Given the description of an element on the screen output the (x, y) to click on. 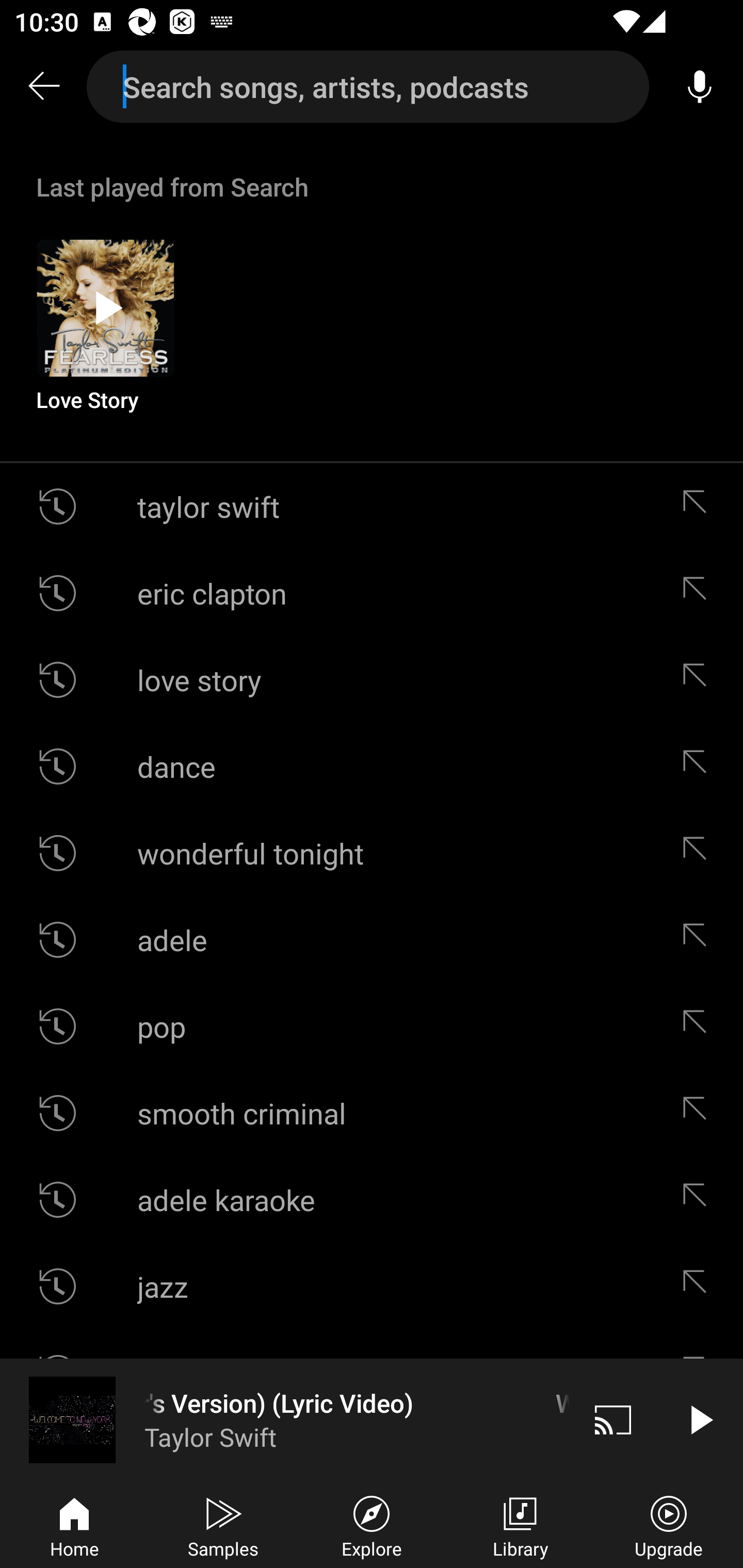
Search back (43, 86)
Search songs, artists, podcasts (367, 86)
Voice search (699, 86)
taylor swift Edit suggestion taylor swift (371, 506)
Edit suggestion taylor swift (699, 506)
eric clapton Edit suggestion eric clapton (371, 593)
Edit suggestion eric clapton (699, 593)
love story Edit suggestion love story (371, 679)
Edit suggestion love story (699, 679)
dance Edit suggestion dance (371, 765)
Edit suggestion dance (699, 765)
Edit suggestion wonderful tonight (699, 852)
adele Edit suggestion adele (371, 939)
Edit suggestion adele (699, 939)
pop Edit suggestion pop (371, 1026)
Edit suggestion pop (699, 1026)
smooth criminal Edit suggestion smooth criminal (371, 1113)
Edit suggestion smooth criminal (699, 1113)
adele karaoke Edit suggestion adele karaoke (371, 1200)
Edit suggestion adele karaoke (699, 1200)
jazz Edit suggestion jazz (371, 1286)
Edit suggestion jazz (699, 1286)
Cast. Disconnected (612, 1419)
Play video (699, 1419)
Home (74, 1524)
Samples (222, 1524)
Explore (371, 1524)
Library (519, 1524)
Upgrade (668, 1524)
